Given the description of an element on the screen output the (x, y) to click on. 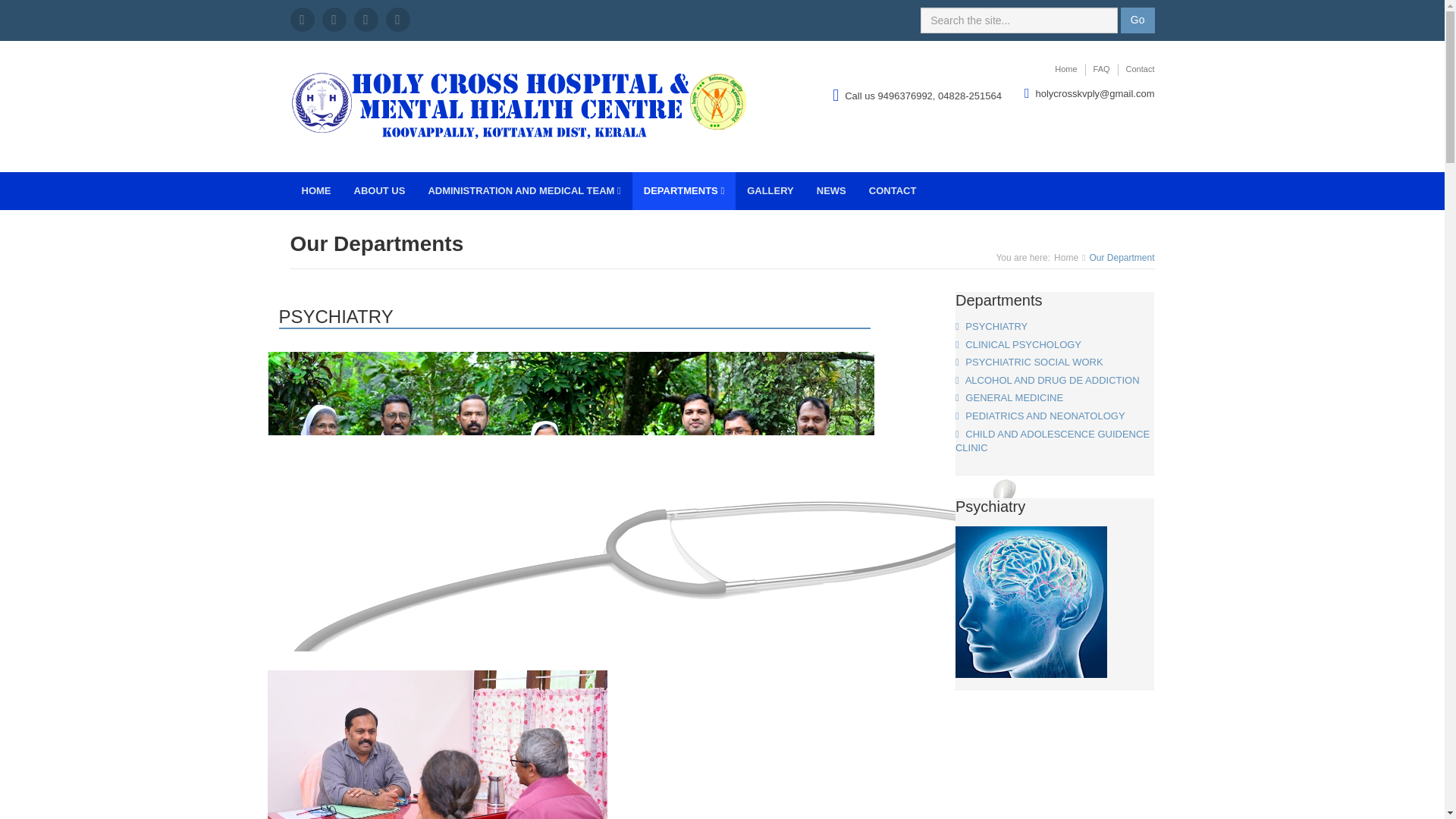
DEPARTMENTS (683, 190)
Home (1065, 69)
GALLERY (770, 190)
PSYCHIATRIC SOCIAL WORK (1029, 361)
GENERAL MEDICINE (1008, 397)
Go (1137, 20)
PEDIATRICS AND NEONATOLOGY (1040, 415)
FAQ (1102, 69)
PSYCHIATRY (991, 326)
HOME (315, 190)
